Given the description of an element on the screen output the (x, y) to click on. 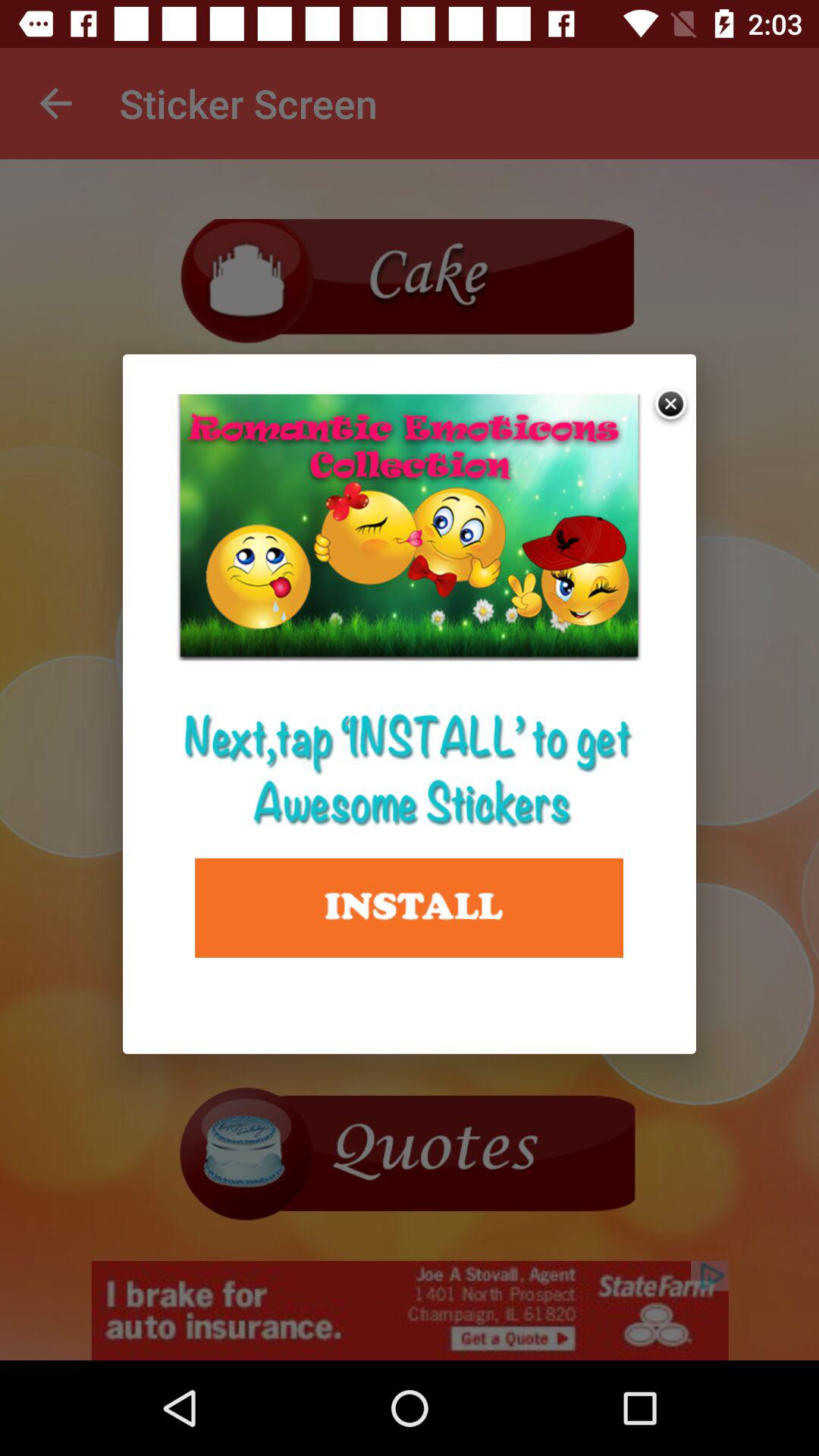
install stickers (409, 907)
